Given the description of an element on the screen output the (x, y) to click on. 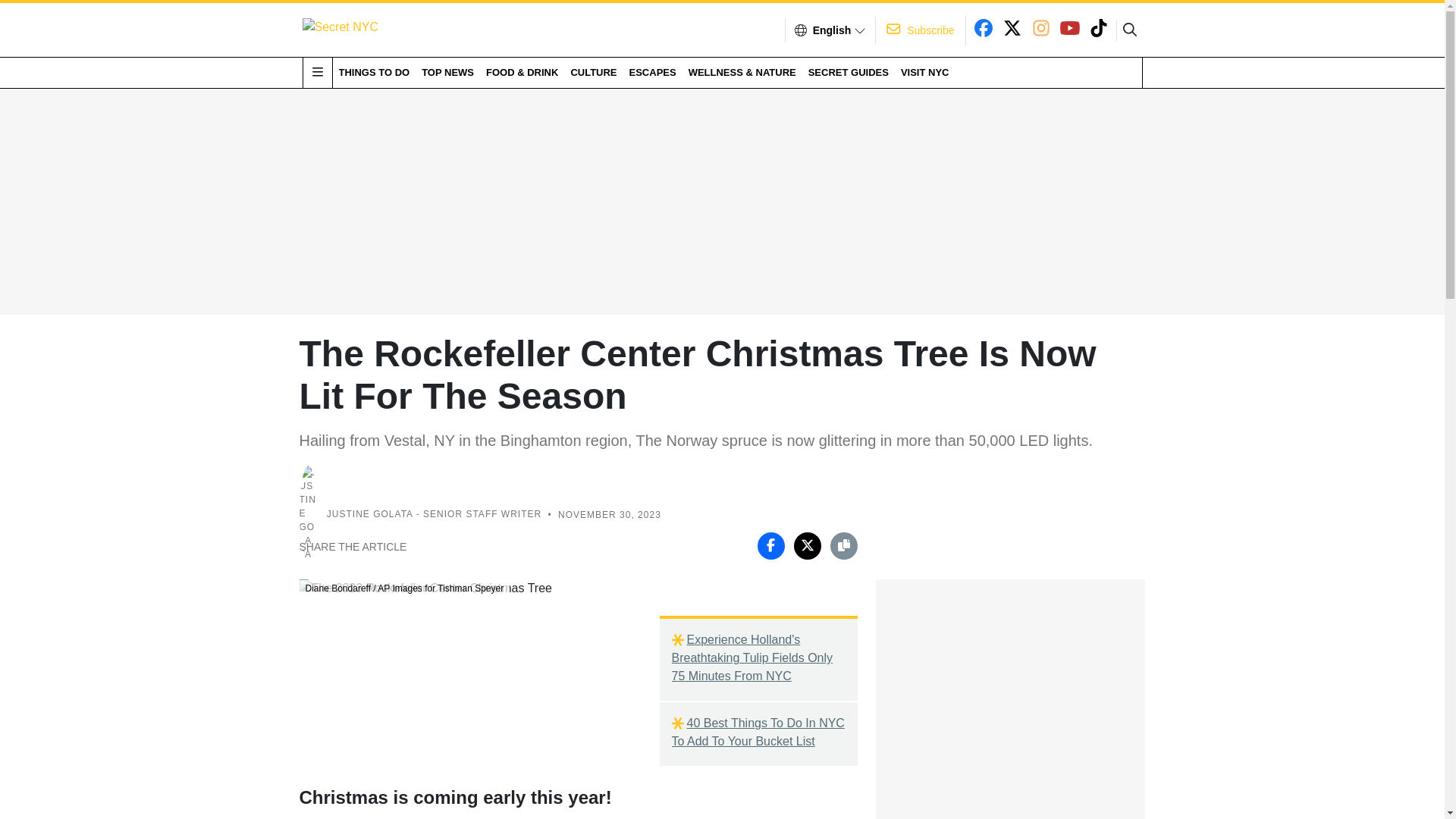
40 Best Things To Do In NYC To Add To Your Bucket List (758, 732)
English (831, 29)
SECRET GUIDES (848, 72)
TOP NEWS (448, 72)
VISIT NYC (925, 72)
ESCAPES (652, 72)
THINGS TO DO (373, 72)
CULTURE (592, 72)
JUSTINE GOLATA (369, 514)
